Given the description of an element on the screen output the (x, y) to click on. 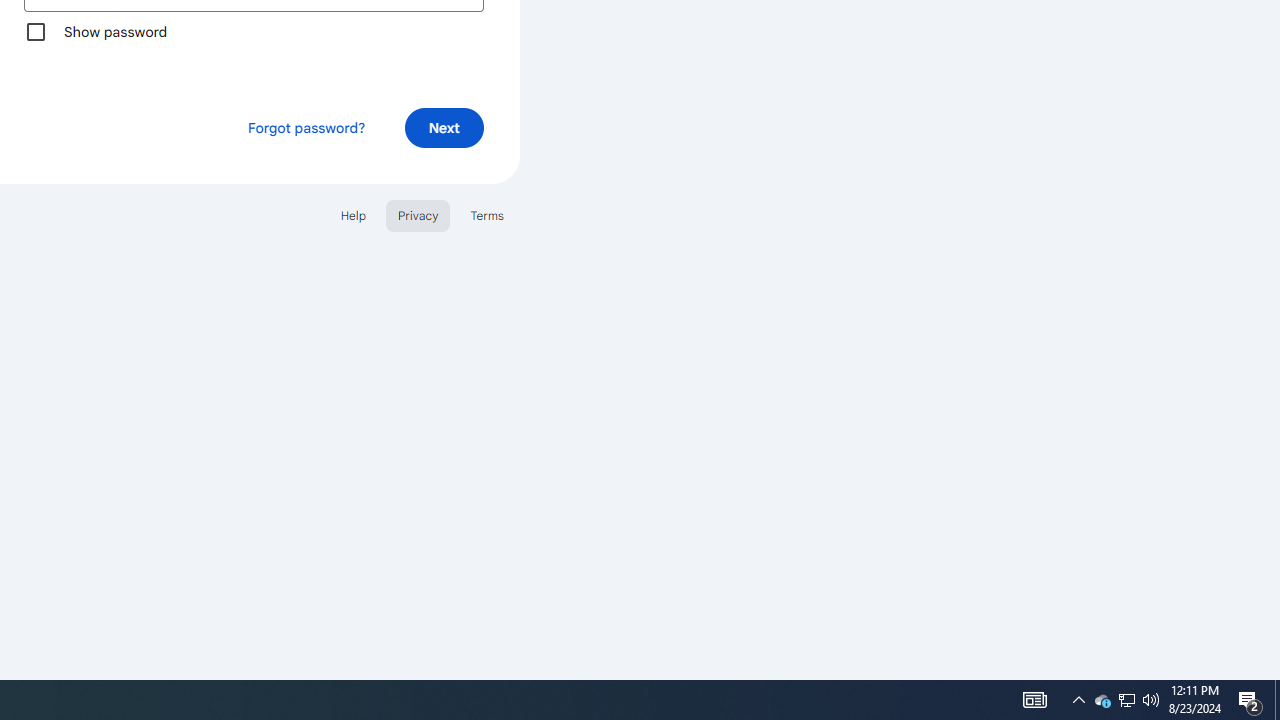
Show password (35, 31)
Forgot password? (305, 127)
